Given the description of an element on the screen output the (x, y) to click on. 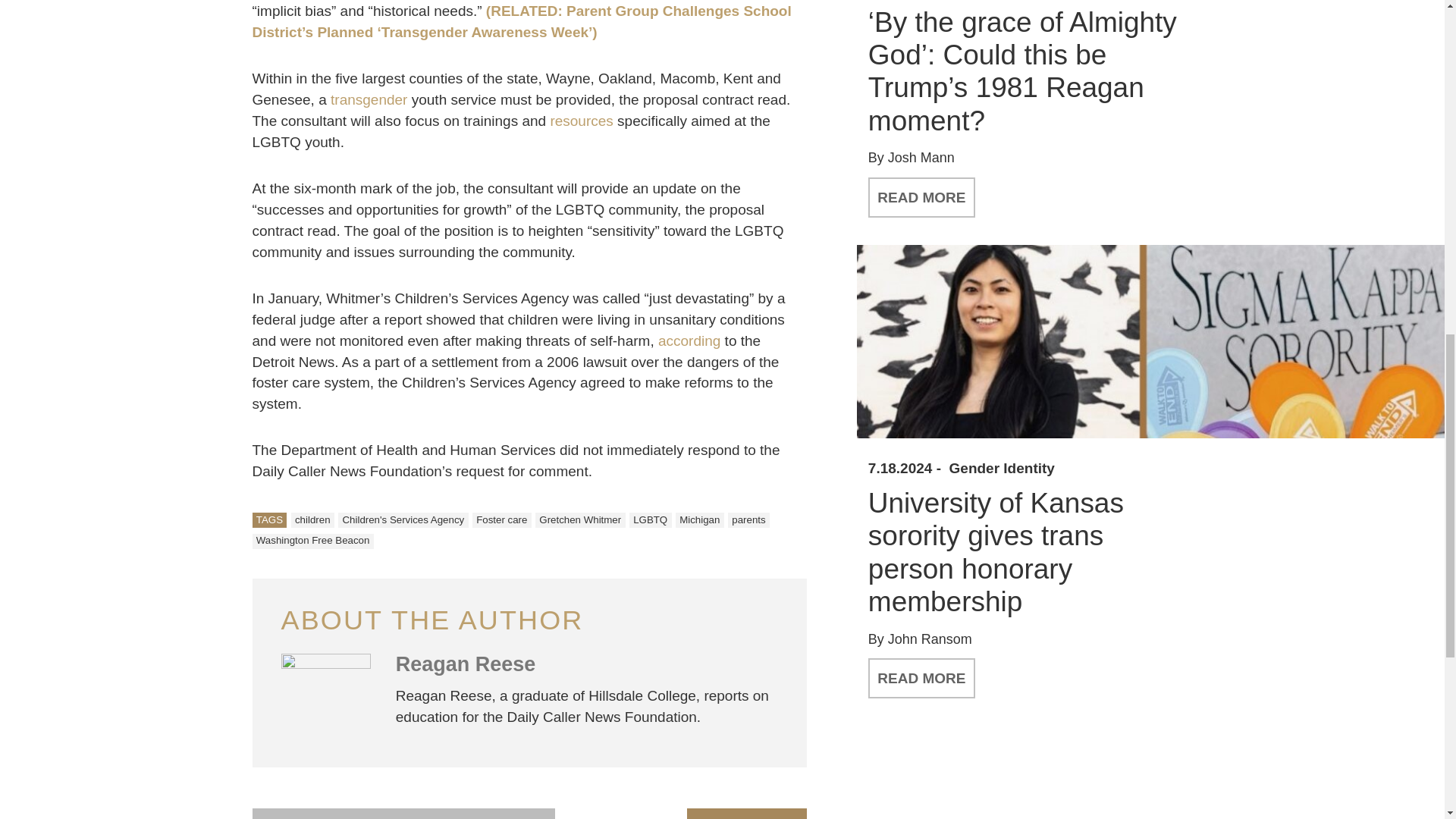
NEXT ARTICLE (746, 813)
Josh Mann (921, 157)
Gender Identity (1001, 468)
Reagan Reese (465, 663)
READ MORE (921, 678)
parents (749, 519)
Washington Free Beacon (311, 540)
according (689, 340)
Foster care (501, 519)
Children's Services Agency (402, 519)
LGBTQ (649, 519)
transgender (368, 99)
Gretchen Whitmer (580, 519)
